Given the description of an element on the screen output the (x, y) to click on. 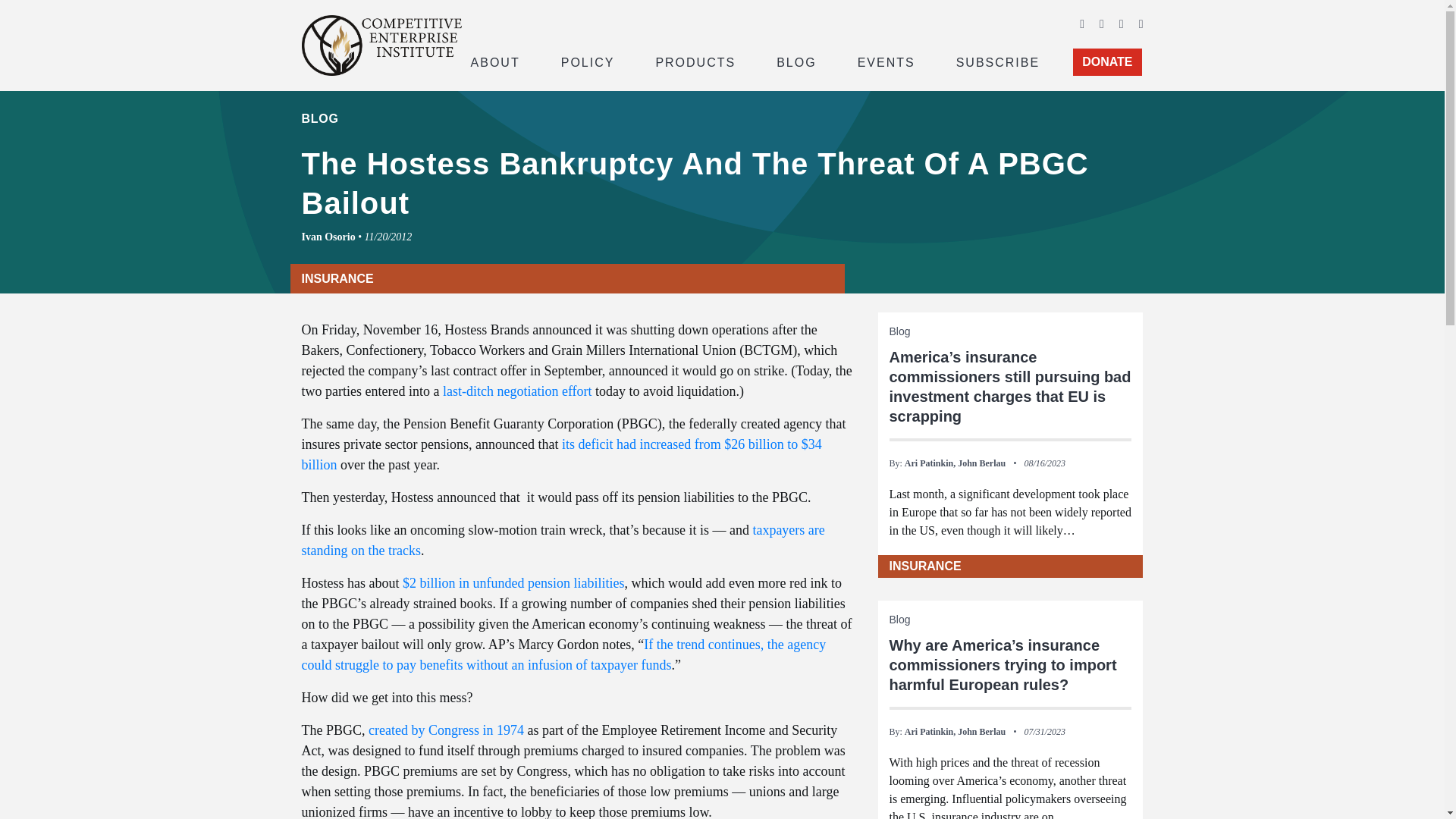
ABOUT (495, 61)
DONATE (1107, 62)
BLOG (796, 61)
EVENTS (886, 61)
SUBSCRIBE (997, 61)
POLICY (588, 61)
PRODUCTS (694, 61)
